Given the description of an element on the screen output the (x, y) to click on. 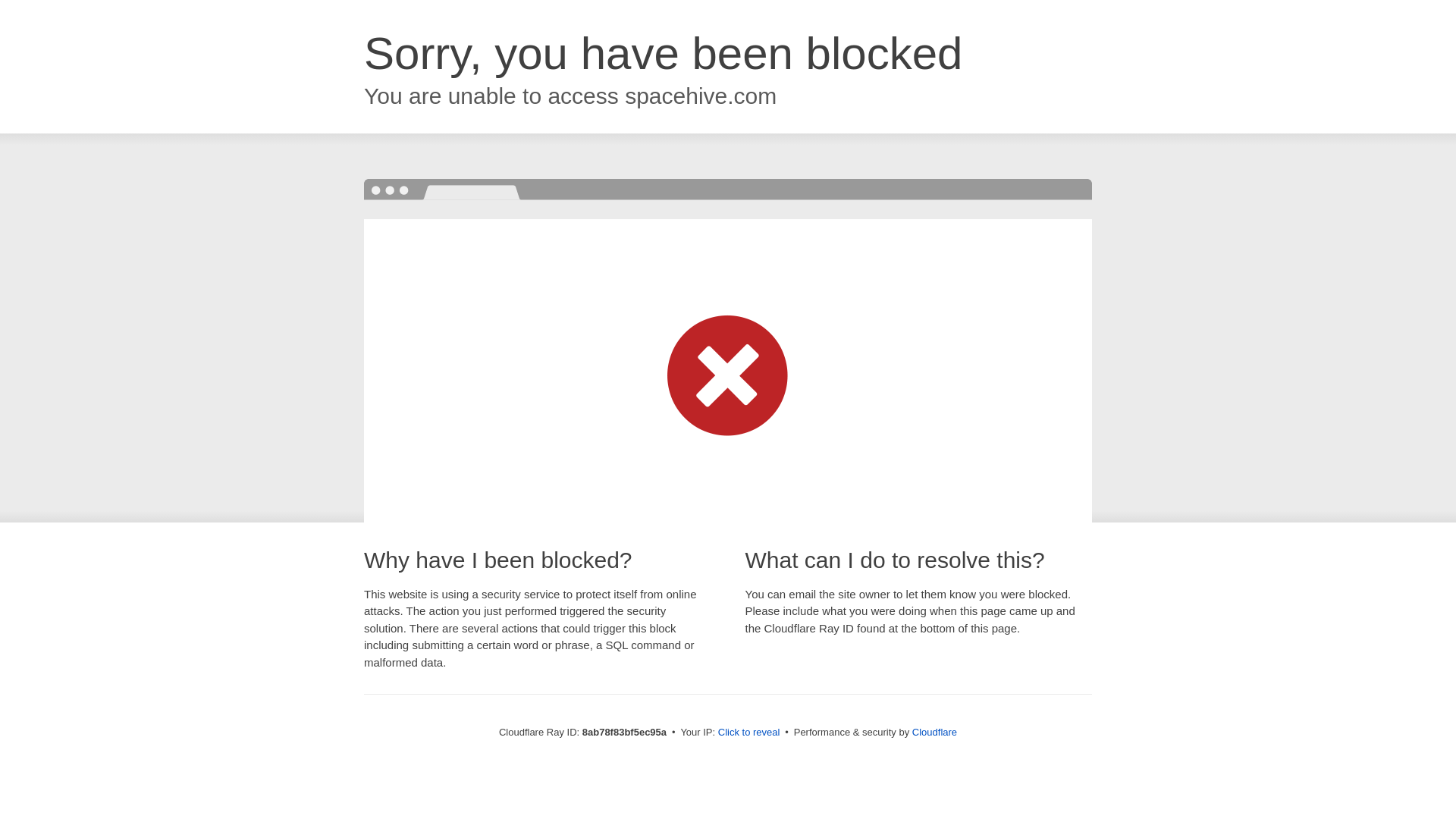
Cloudflare (934, 731)
Click to reveal (748, 732)
